Given the description of an element on the screen output the (x, y) to click on. 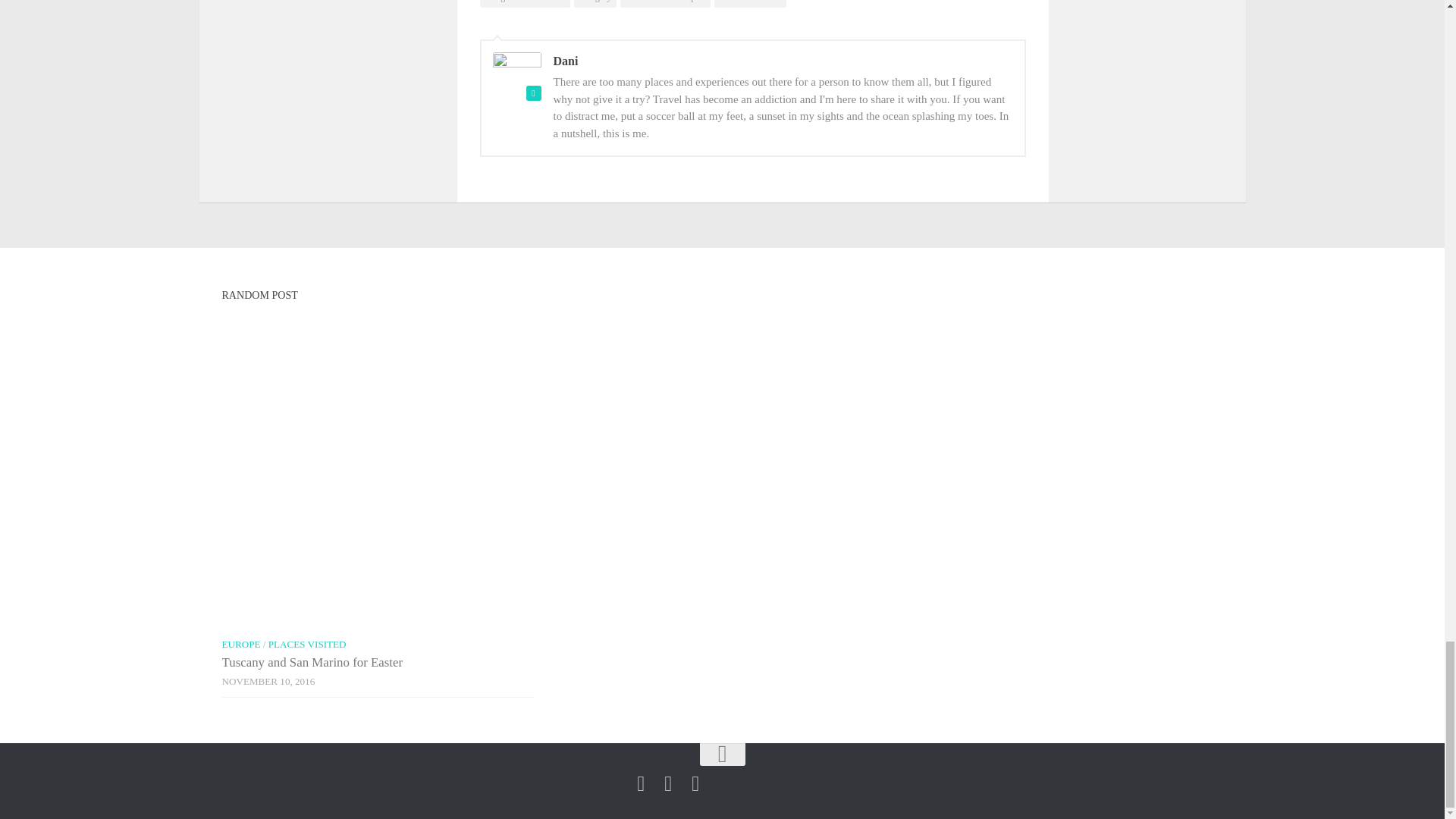
Follow us on Facebook (640, 783)
Follow us on Instagram (668, 783)
Follow us on Youtube (695, 783)
